Given the description of an element on the screen output the (x, y) to click on. 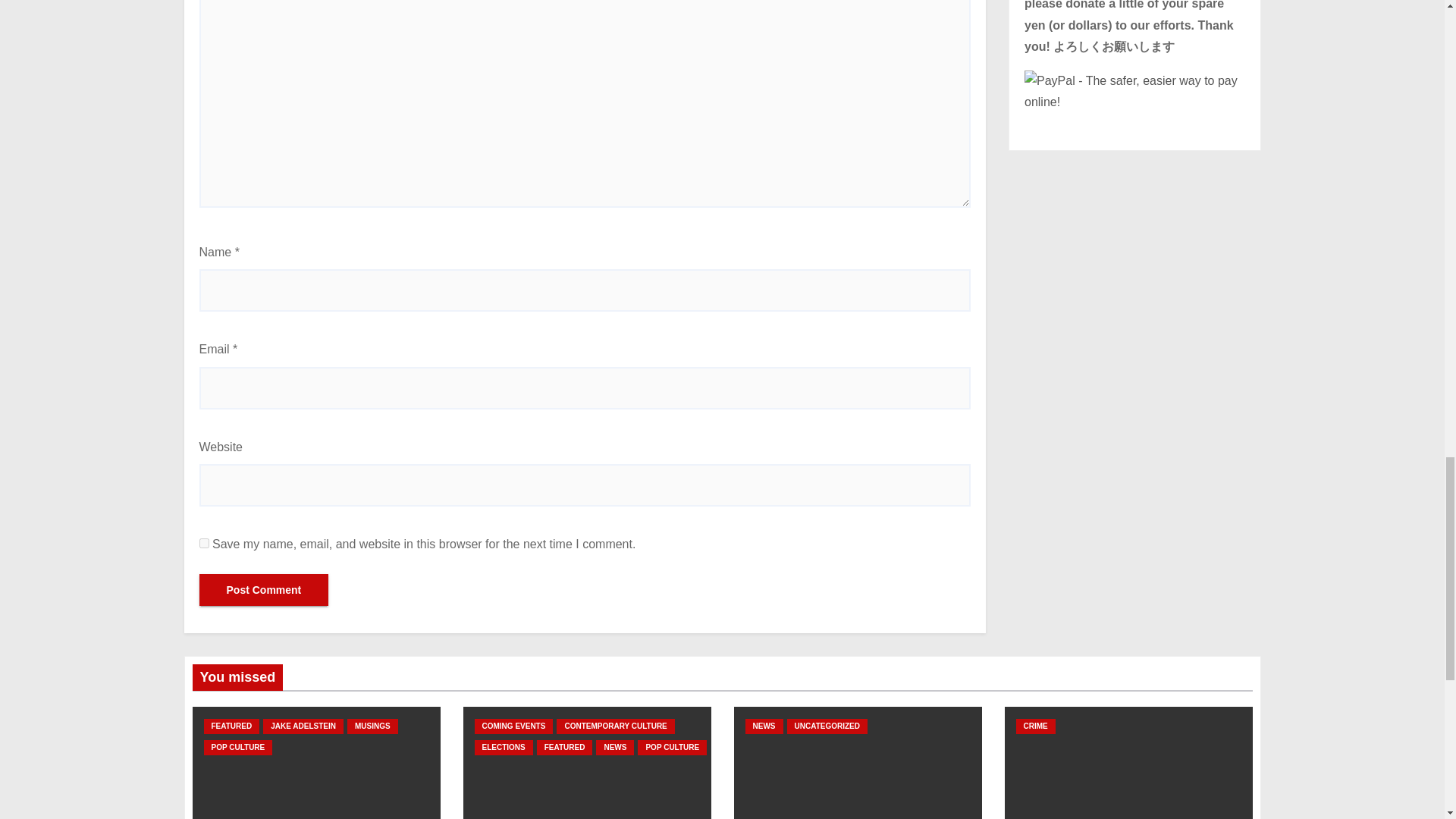
yes (203, 542)
Post Comment (263, 590)
